Given the description of an element on the screen output the (x, y) to click on. 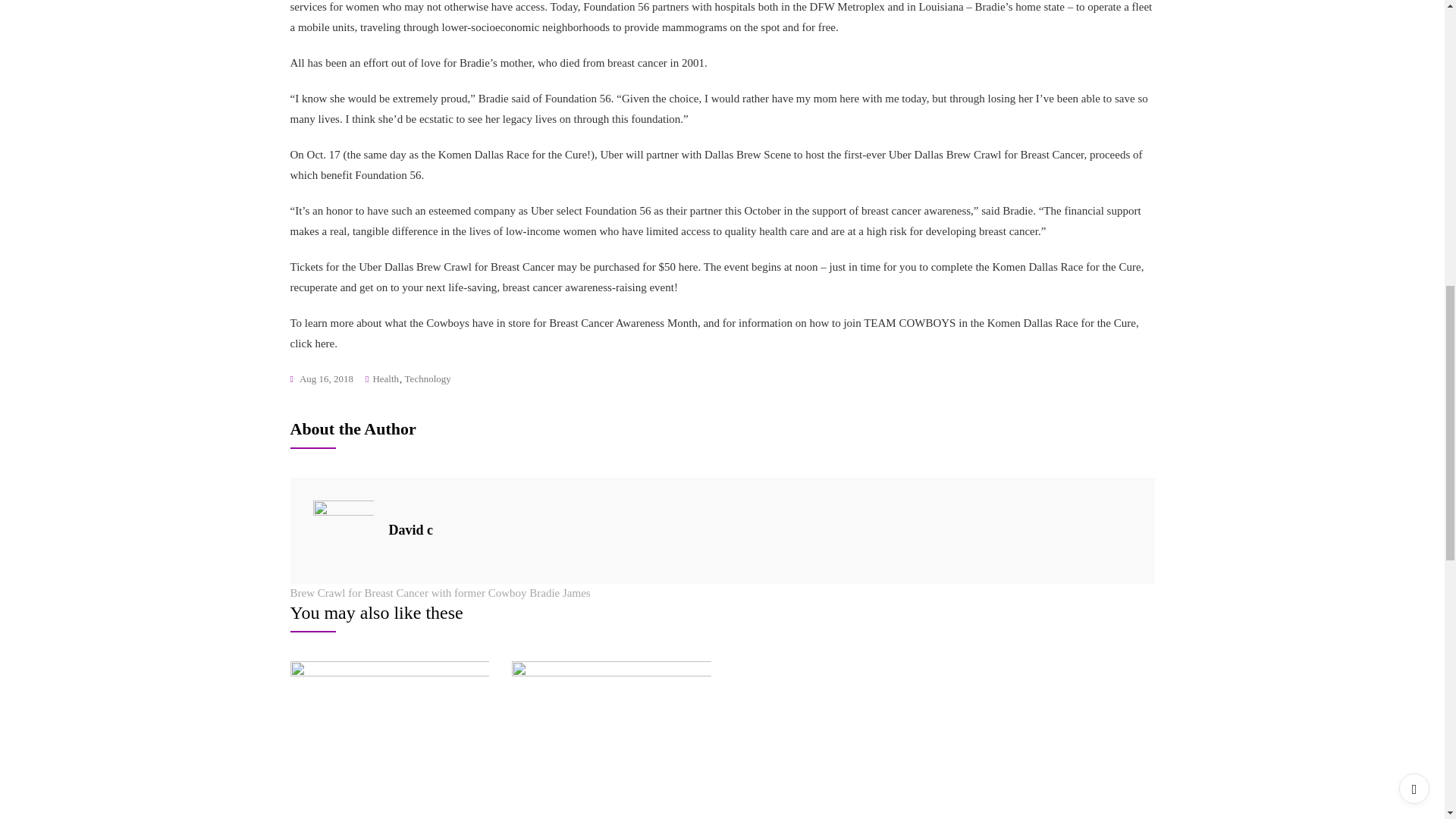
Technology (427, 379)
David c (410, 529)
Health (385, 379)
Aug 16, 2018 (321, 379)
Brew Crawl for Breast Cancer with former Cowboy Bradie James (439, 592)
